Given the description of an element on the screen output the (x, y) to click on. 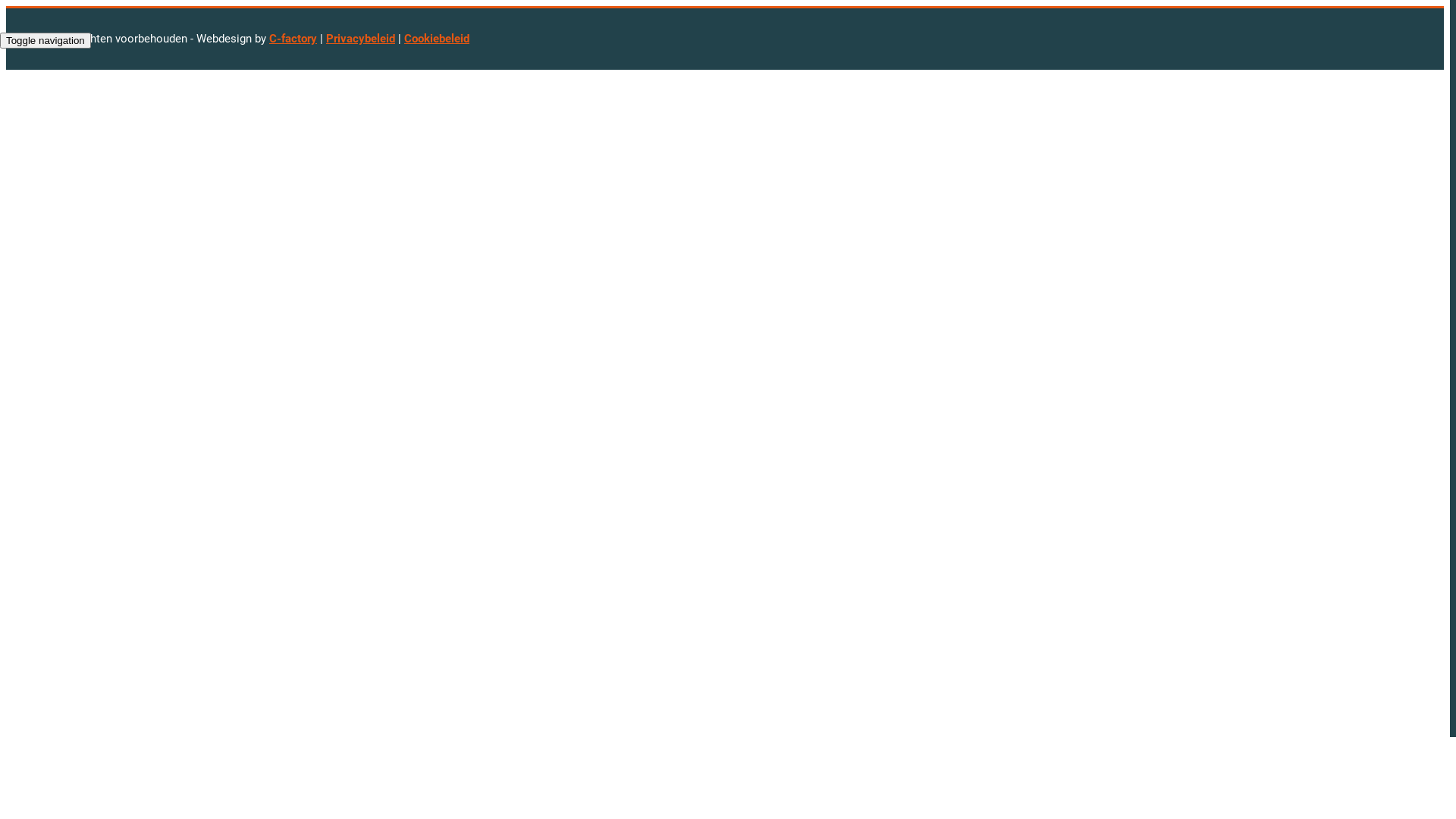
HOME Element type: text (51, 76)
Toggle navigation Element type: text (45, 40)
C-factory Element type: text (292, 38)
Cookiebeleid Element type: text (436, 38)
CONTACT Element type: text (61, 128)
IN ACTIE Element type: text (59, 111)
Privacybeleid Element type: text (360, 38)
INFO Element type: text (47, 93)
